Given the description of an element on the screen output the (x, y) to click on. 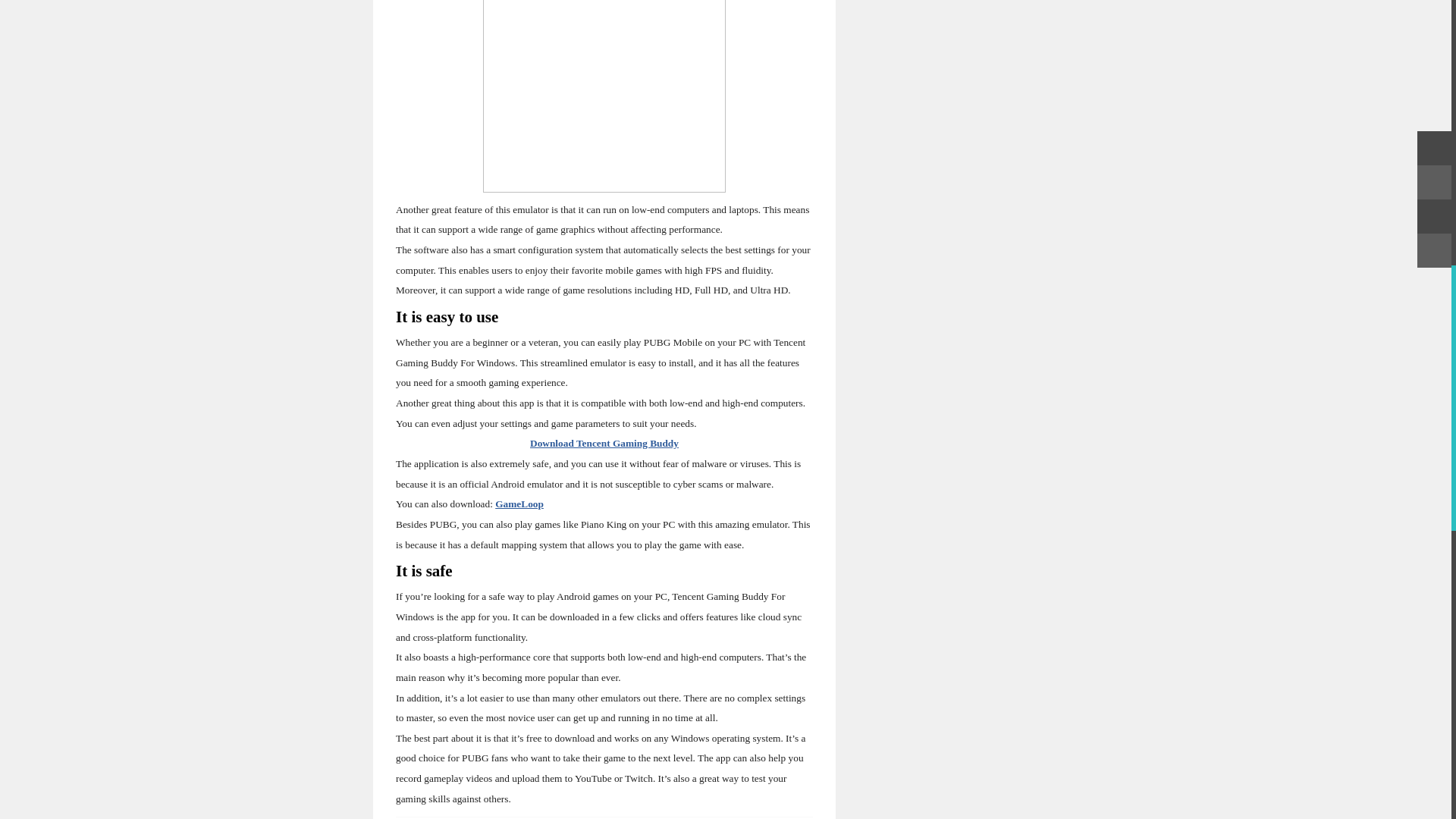
Download Tencent Gaming Buddy (603, 442)
GameLoop (519, 503)
